Given the description of an element on the screen output the (x, y) to click on. 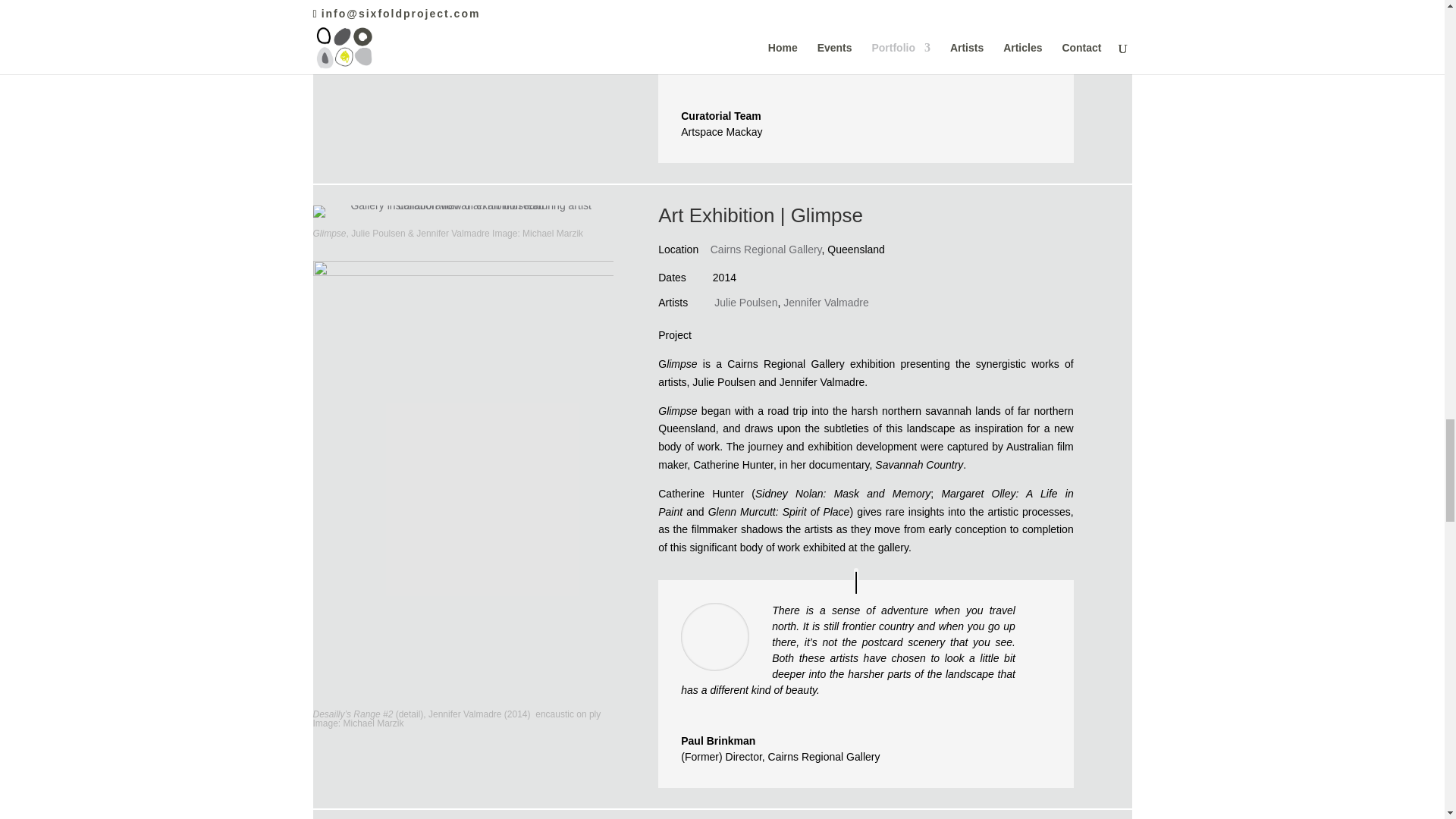
Jennifer Valmadre (826, 302)
Julie Poulsen (745, 302)
Cairns Regional Gallery (766, 249)
